Given the description of an element on the screen output the (x, y) to click on. 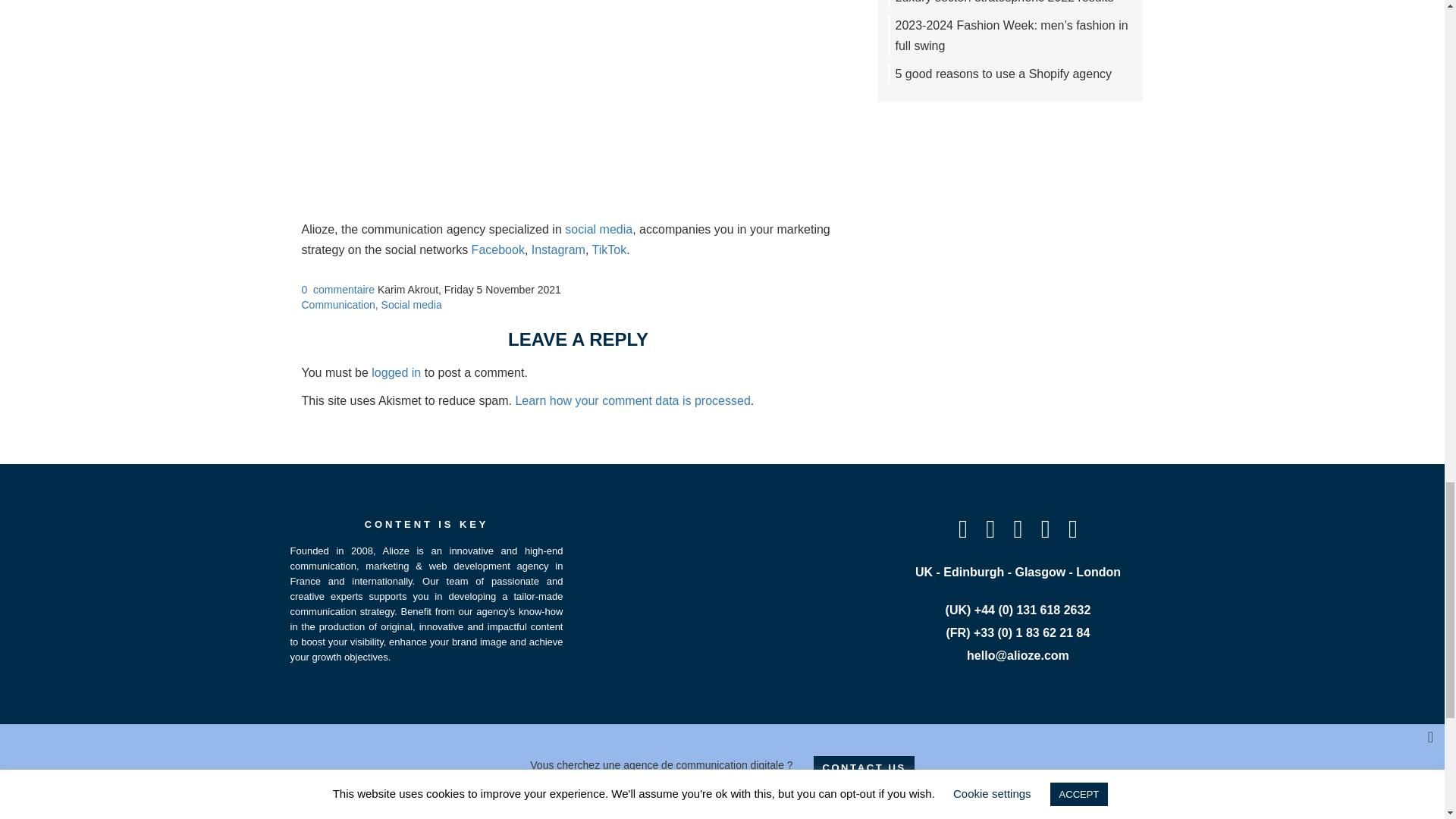
Communication, (341, 304)
TikTok (609, 249)
logged in (395, 372)
Learn how your comment data is processed (632, 400)
YouTube video player (578, 63)
Instagram (558, 249)
commentaire (343, 289)
Facebook (497, 249)
social media (597, 228)
Social media (411, 304)
